Given the description of an element on the screen output the (x, y) to click on. 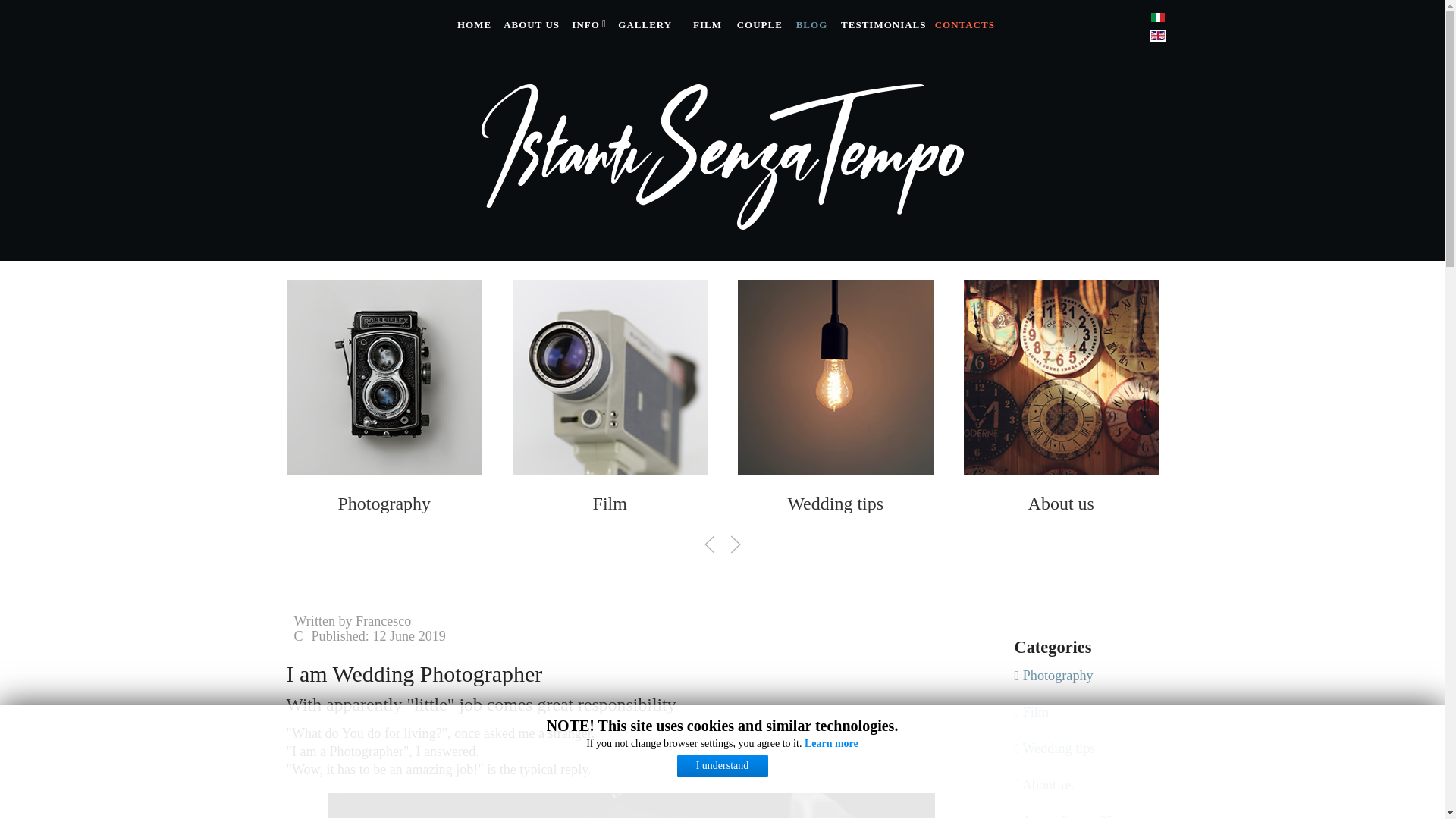
Photography (383, 502)
HOME (472, 24)
BLOG (809, 24)
FILM (705, 24)
CONTACTS (962, 24)
A Wedding in 20 Pictures (1285, 502)
TESTIMONIALS (881, 24)
About us (1060, 502)
GALLERY (646, 24)
ABOUT US (529, 24)
